Given the description of an element on the screen output the (x, y) to click on. 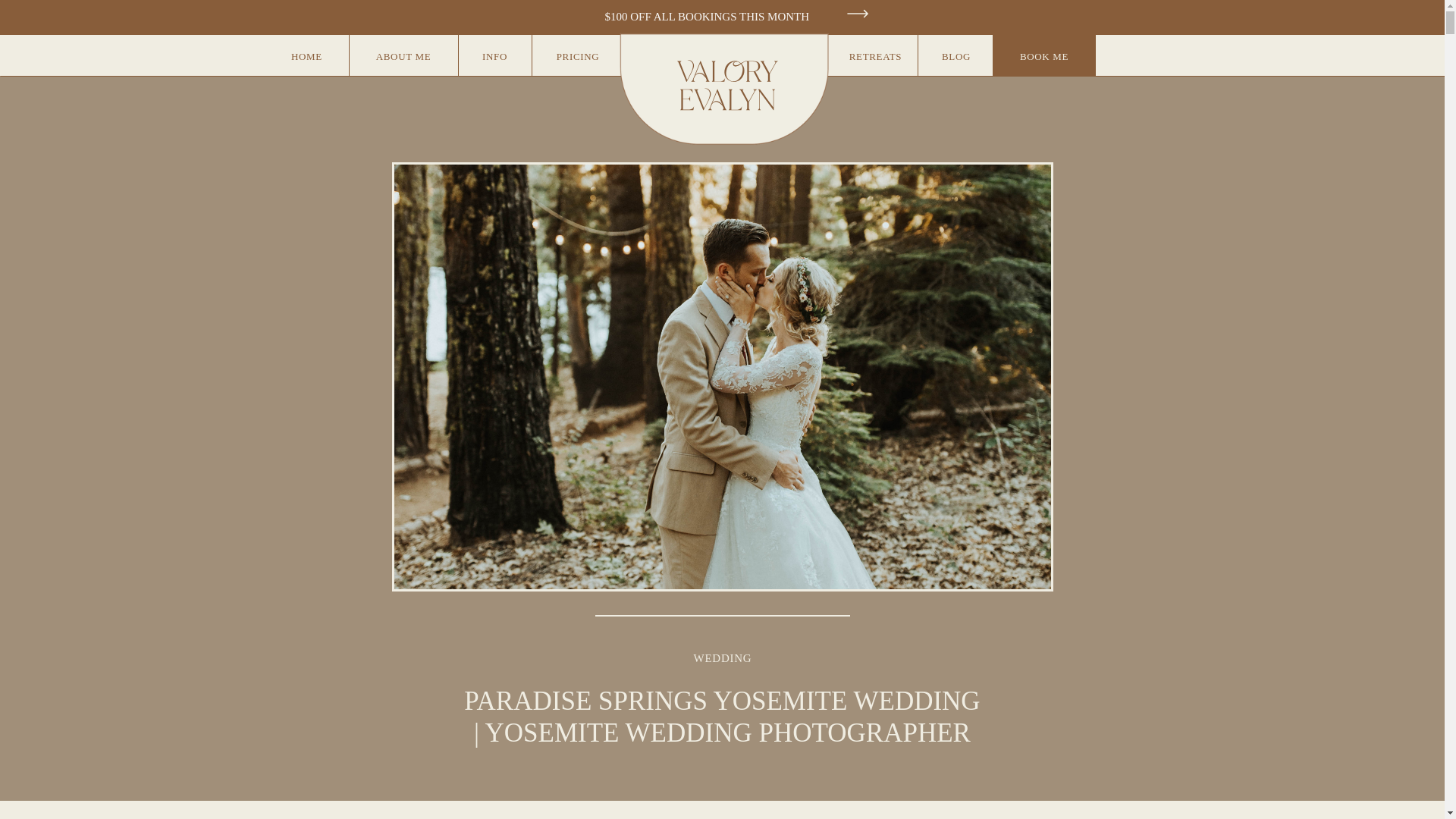
ABOUT ME (403, 55)
BOOK ME (1043, 55)
INFO (494, 55)
RETREATS (875, 55)
PRICING (577, 55)
HOME (307, 55)
BLOG (955, 55)
WEDDING (723, 657)
